Given the description of an element on the screen output the (x, y) to click on. 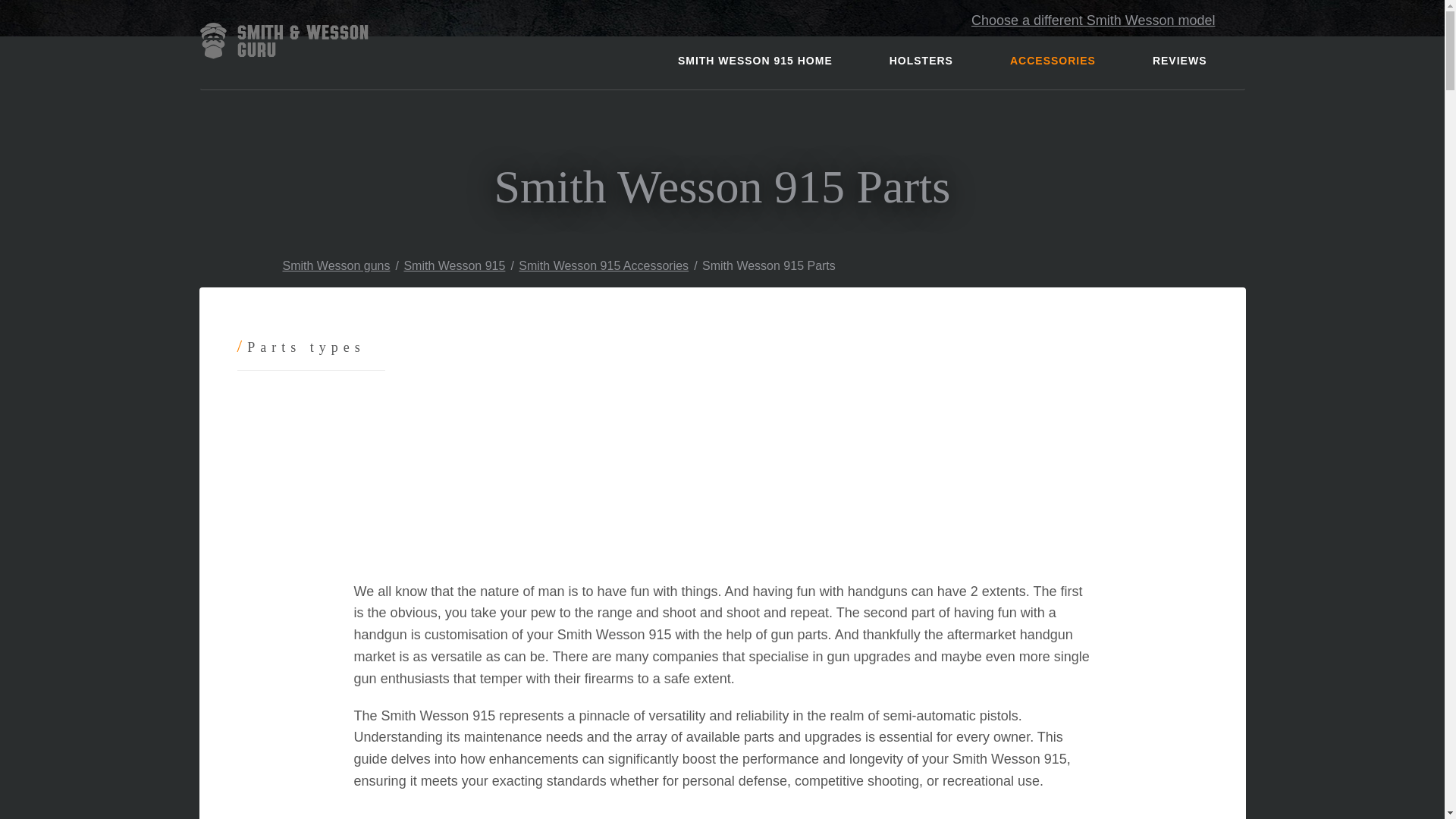
SMITH WESSON 915 HOME (755, 60)
HOLSTERS (920, 60)
ACCESSORIES (1052, 60)
Choose a different Smith Wesson model (1093, 20)
Smith Wesson guns (326, 265)
Smith Wesson 915 (454, 265)
Smith Wesson 915 Parts (768, 265)
Smith Wesson 915 Accessories (603, 265)
REVIEWS (1179, 60)
